Given the description of an element on the screen output the (x, y) to click on. 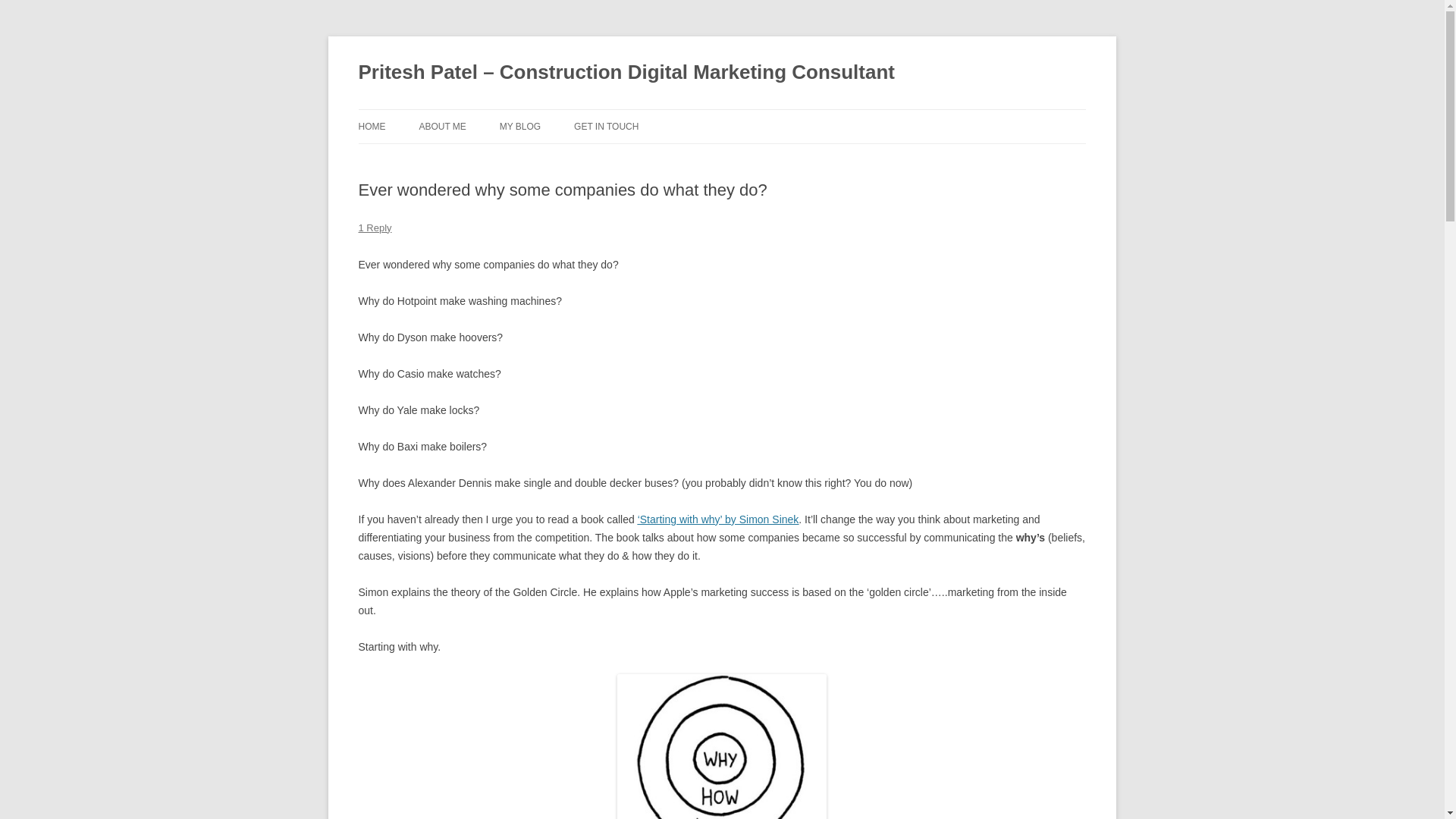
ABOUT ME (442, 126)
1 Reply (374, 227)
GET IN TOUCH (606, 126)
MY BLOG (519, 126)
